Given the description of an element on the screen output the (x, y) to click on. 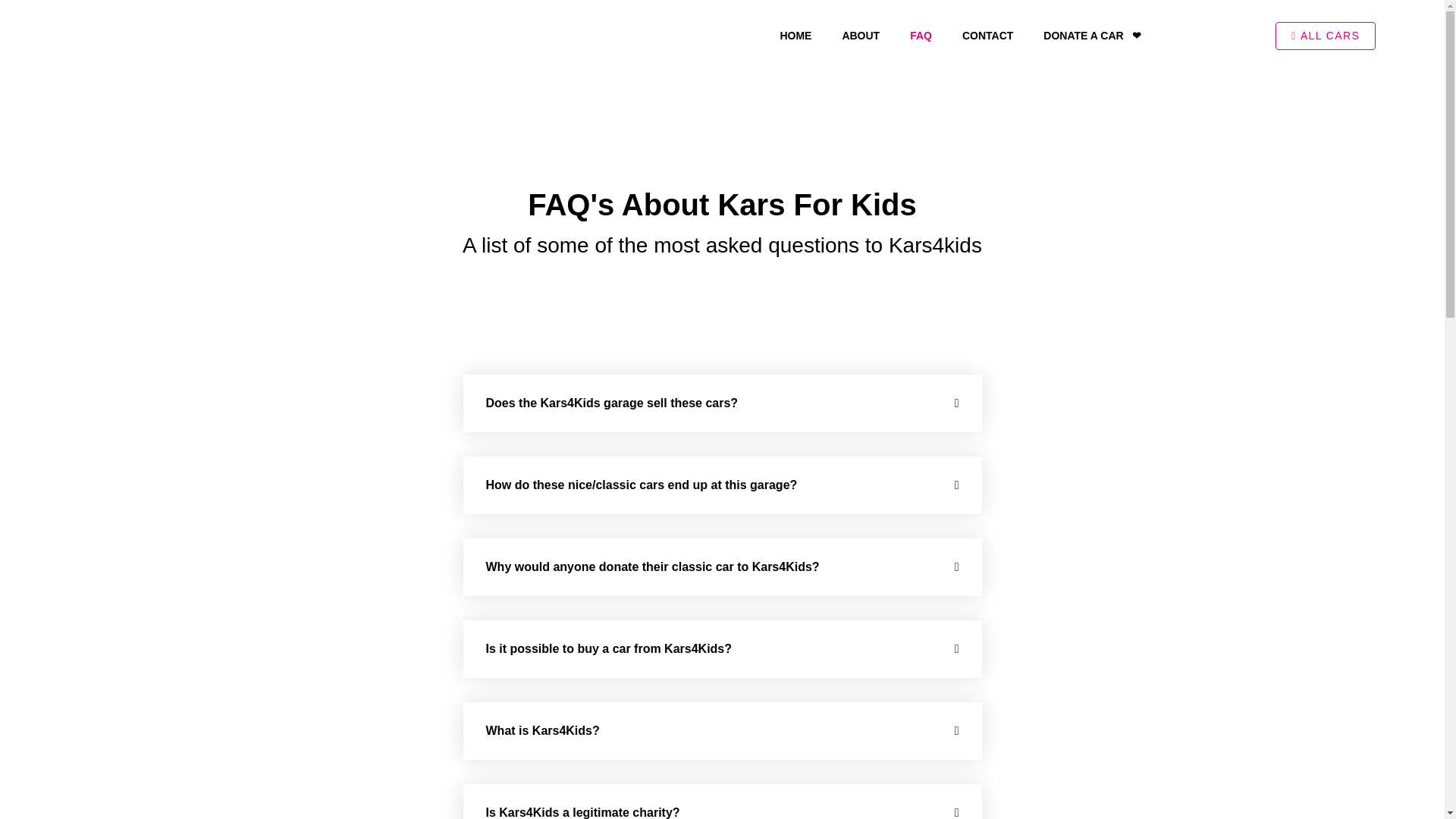
HOME (795, 35)
Does the Kars4Kids garage sell these cars? (611, 402)
Kars4Kids Garage Logo (92, 35)
What is Kars4Kids? (541, 730)
ALL CARS (1325, 35)
CONTACT (987, 35)
Is it possible to buy a car from Kars4Kids? (608, 648)
Why would anyone donate their classic car to Kars4Kids? (651, 566)
FAQ (921, 35)
Is Kars4Kids a legitimate charity? (581, 812)
